Given the description of an element on the screen output the (x, y) to click on. 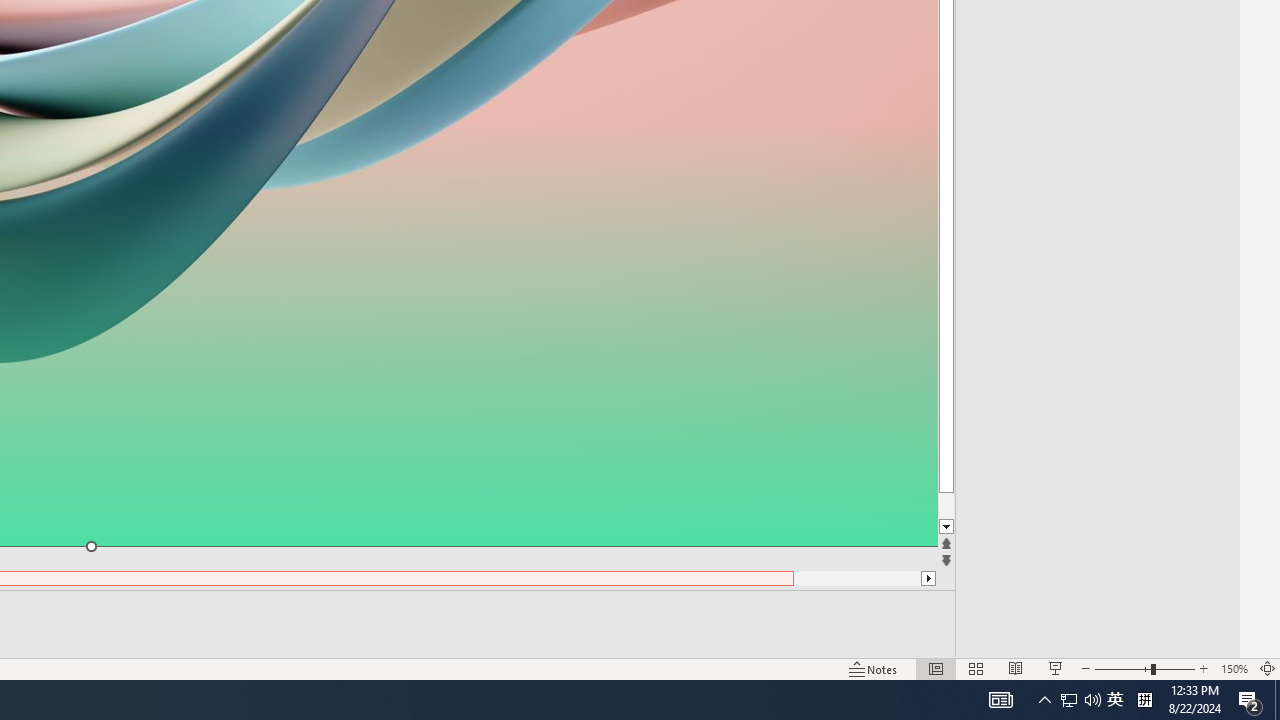
Zoom 150% (1234, 668)
